Given the description of an element on the screen output the (x, y) to click on. 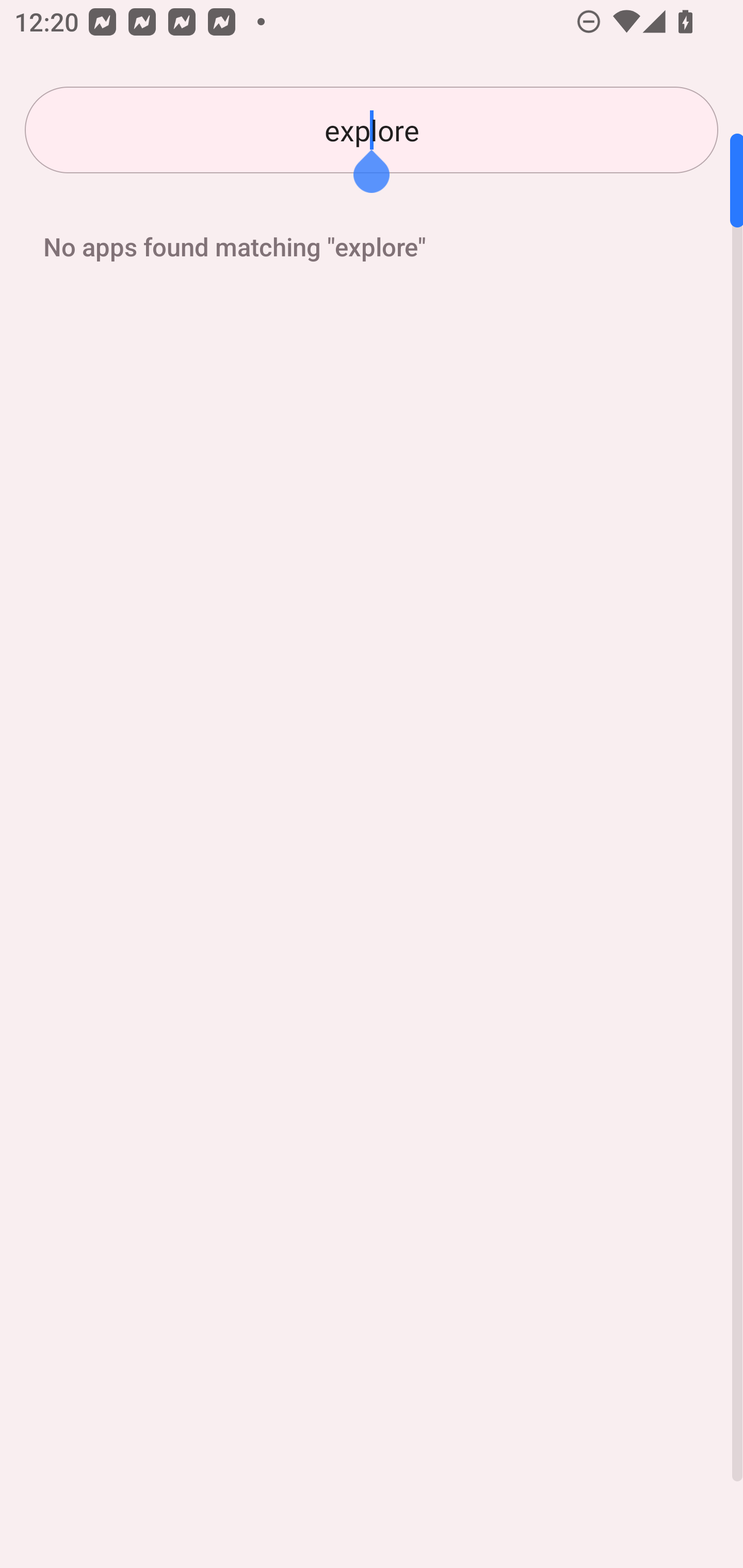
explore (371, 130)
